Given the description of an element on the screen output the (x, y) to click on. 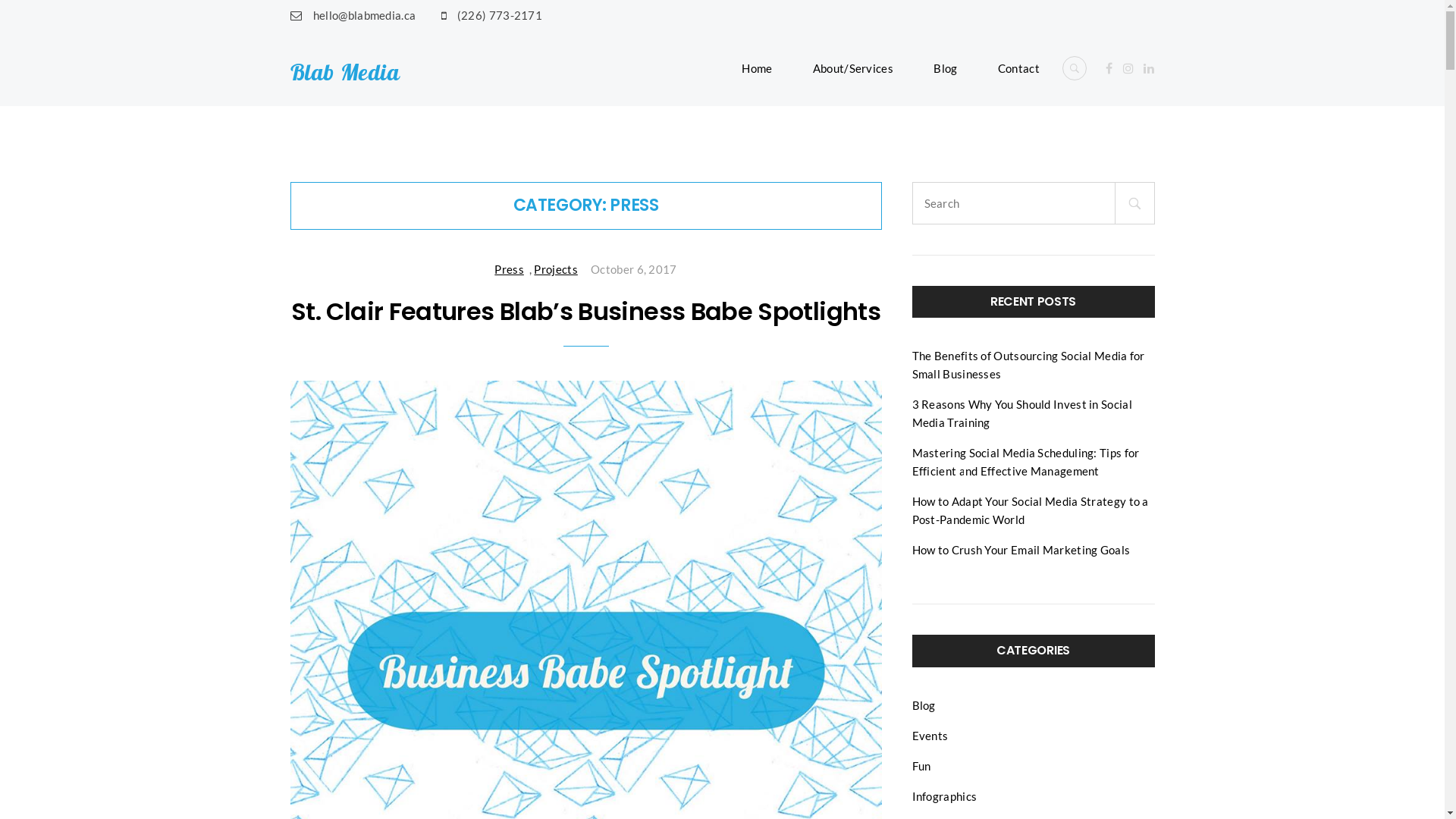
Contact Element type: text (1013, 67)
How to Crush Your Email Marketing Goals Element type: text (1020, 549)
Fun Element type: text (920, 765)
Home Element type: text (765, 67)
Blab Media Element type: text (344, 71)
3 Reasons Why You Should Invest in Social Media Training Element type: text (1021, 413)
Blog Element type: text (944, 67)
Infographics Element type: text (943, 796)
October 6, 2017 Element type: text (631, 269)
Blog Element type: text (923, 705)
Search for: Element type: hover (988, 202)
Projects Element type: text (557, 269)
Events Element type: text (929, 735)
Press Element type: text (511, 269)
About/Services Element type: text (852, 67)
